Given the description of an element on the screen output the (x, y) to click on. 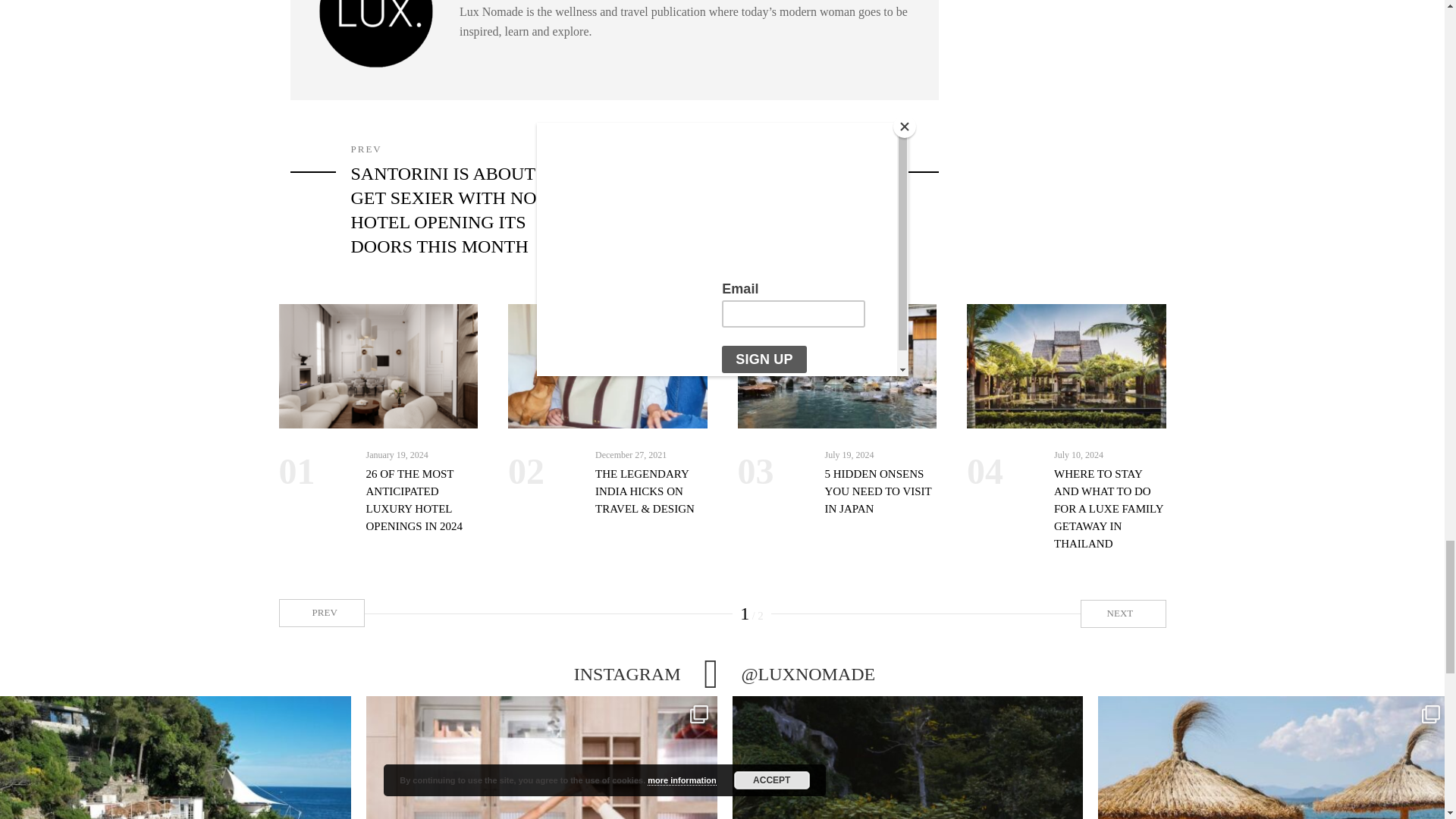
Small Luxury Hotels of the World's 4 New Eco- Luxury Hotels (794, 187)
26 Of The Most Anticipated Luxury Hotel Openings in 2024 (379, 365)
